Given the description of an element on the screen output the (x, y) to click on. 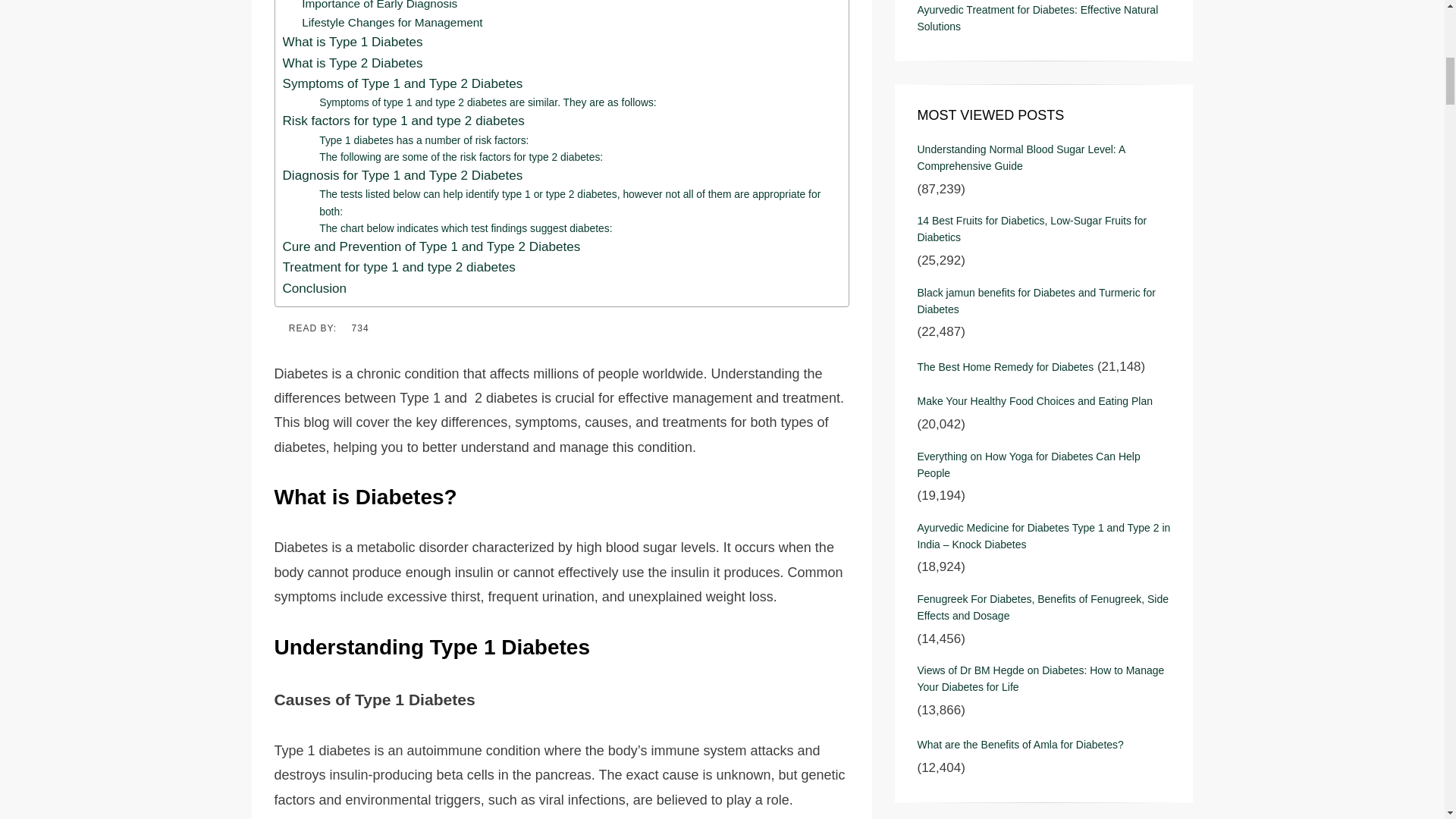
Risk factors for type 1 and type 2 diabetes (403, 120)
Importance of Early Diagnosis (379, 6)
What is Type 1 Diabetes (352, 41)
What is Type 2 Diabetes (352, 63)
Lifestyle Changes for Management (391, 22)
Type 1 diabetes has a number of risk factors: (423, 139)
Symptoms of Type 1 and Type 2 Diabetes (402, 83)
